Given the description of an element on the screen output the (x, y) to click on. 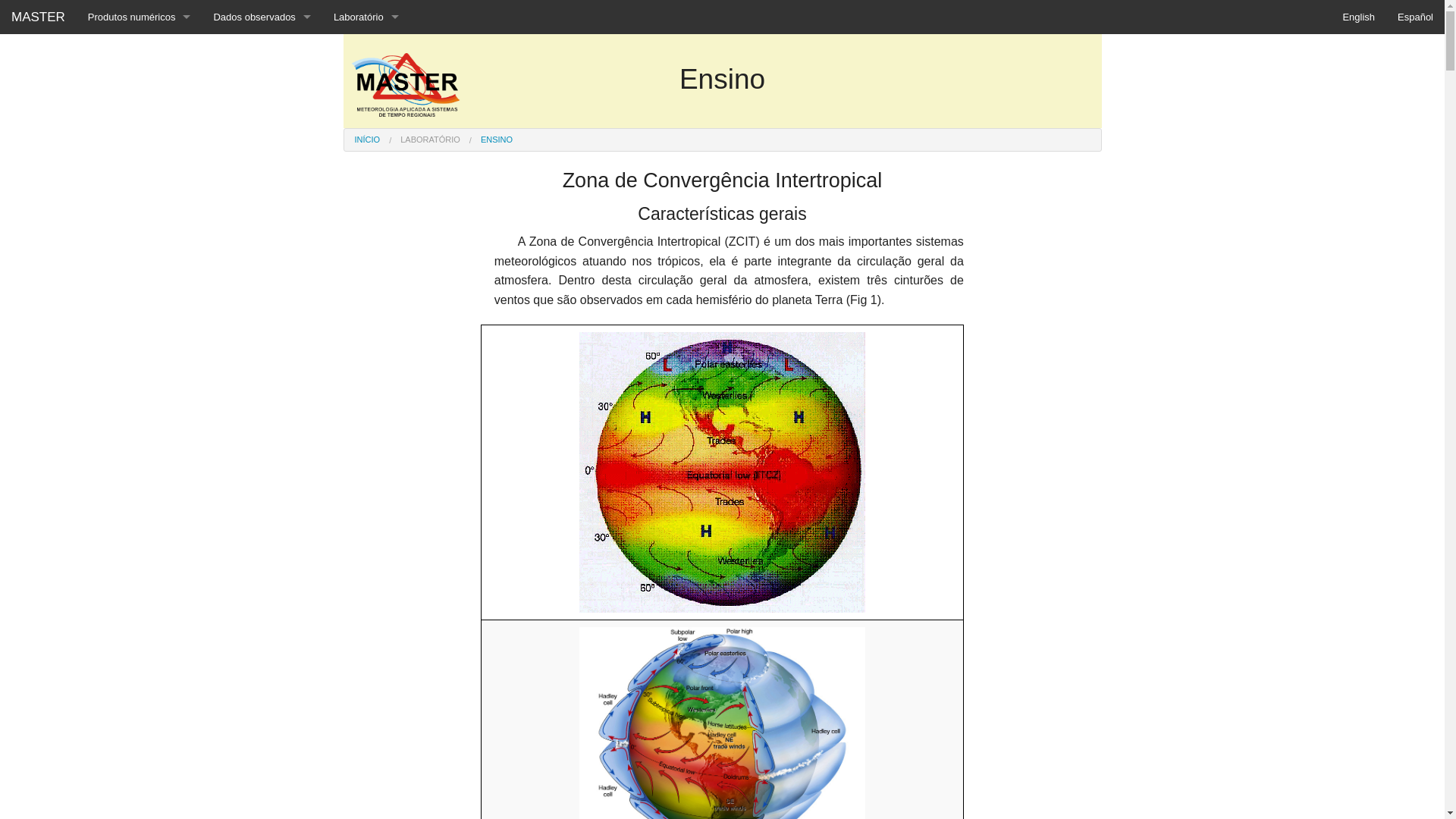
Fale Conosco Element type: text (366, 255)
Radiossondagem Element type: text (261, 85)
Solicitar dados Element type: text (366, 221)
Modelos Regionais Element type: text (139, 85)
Dados observados Element type: text (261, 17)
SYNOP Element type: text (261, 187)
Equipe Element type: text (366, 51)
English Element type: text (1358, 17)
Modelos Globais Element type: text (139, 51)
METAR - Aeroportos Element type: text (261, 153)
Artigos Element type: text (366, 153)
Ensino Element type: text (366, 85)
Projeto LBA Element type: text (366, 119)
MASTER Element type: text (38, 17)
Queimadas Element type: text (139, 153)
